Given the description of an element on the screen output the (x, y) to click on. 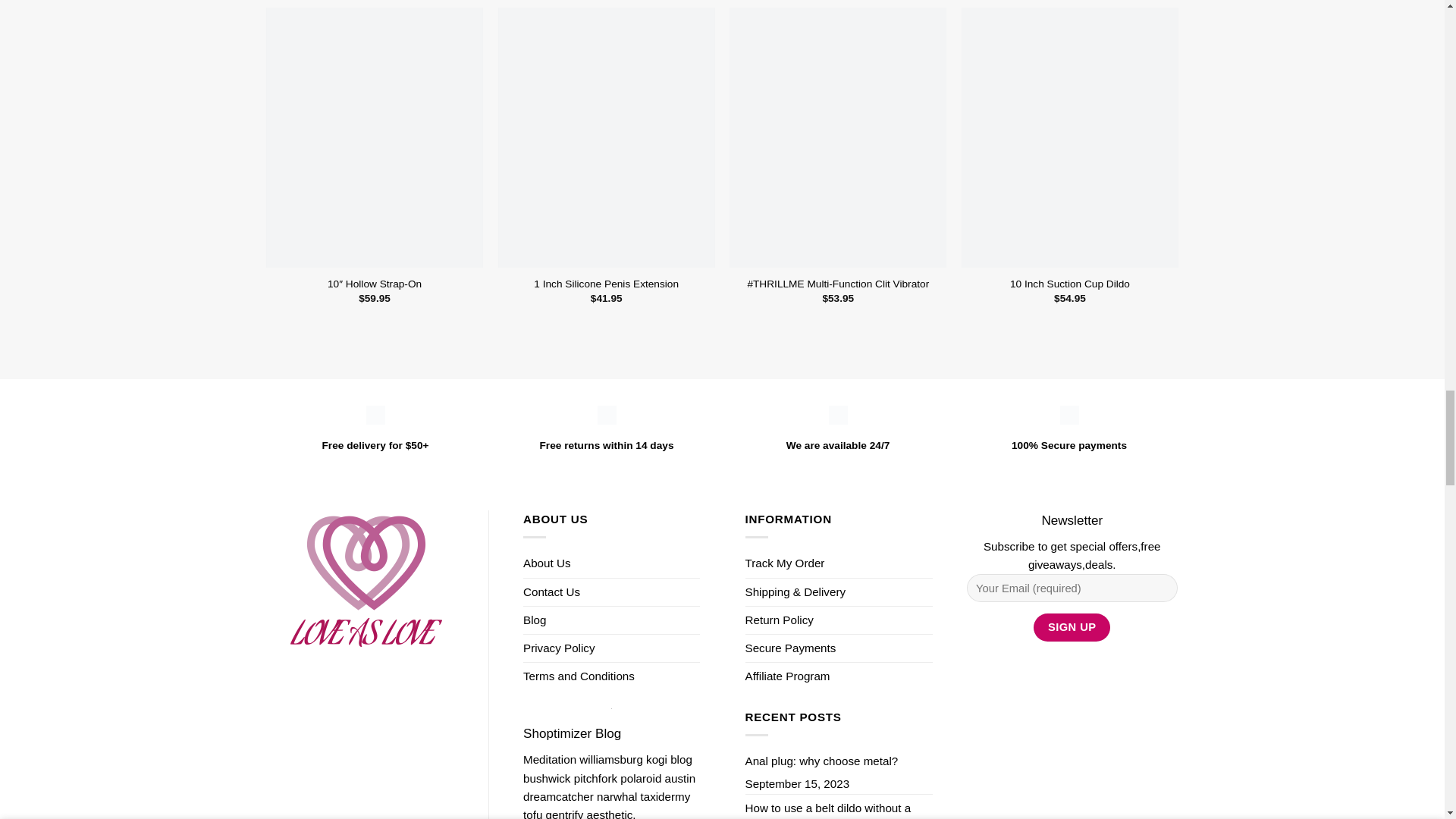
Sign Up (1071, 627)
